Given the description of an element on the screen output the (x, y) to click on. 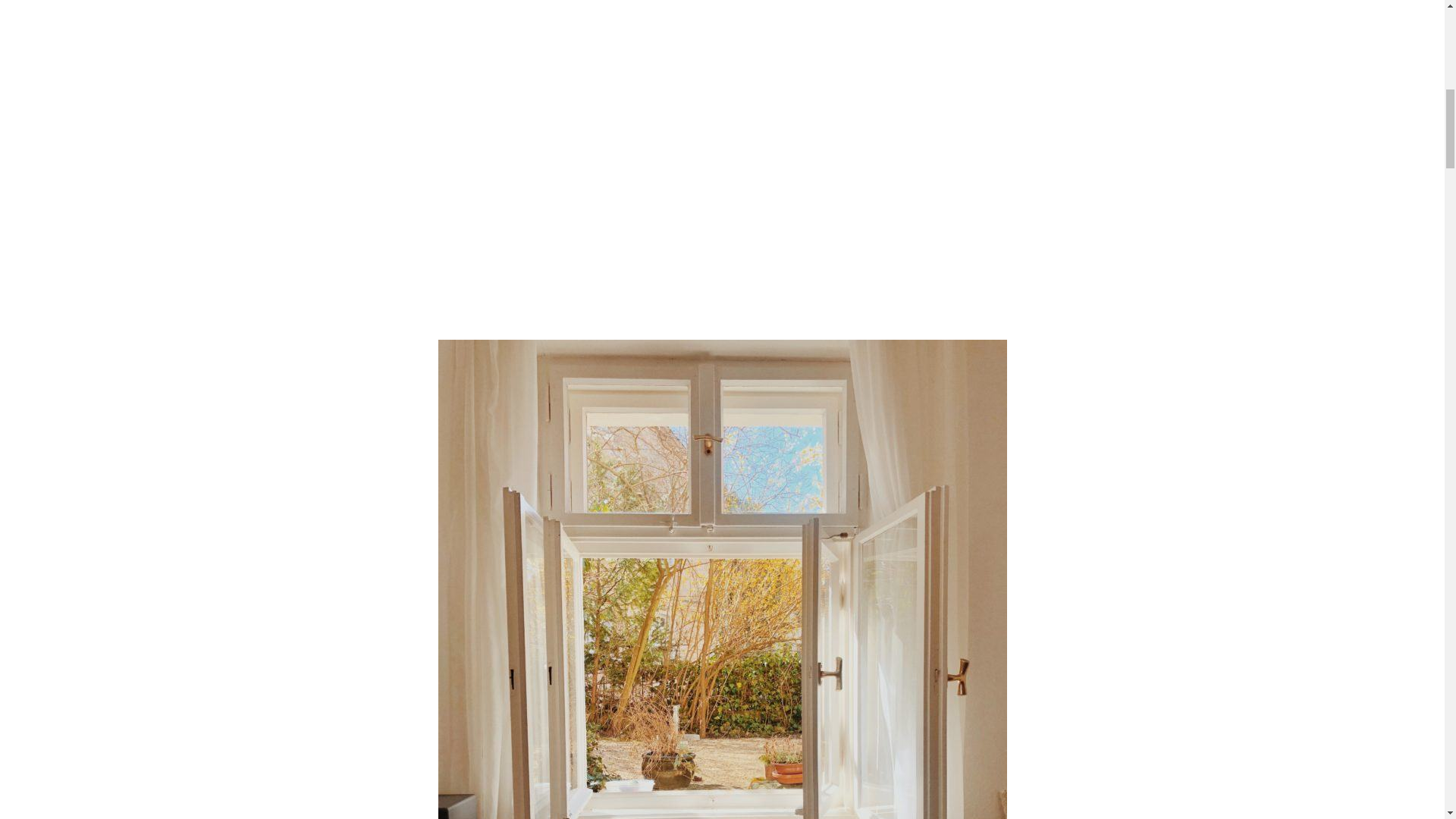
Contact. (1159, 26)
